Given the description of an element on the screen output the (x, y) to click on. 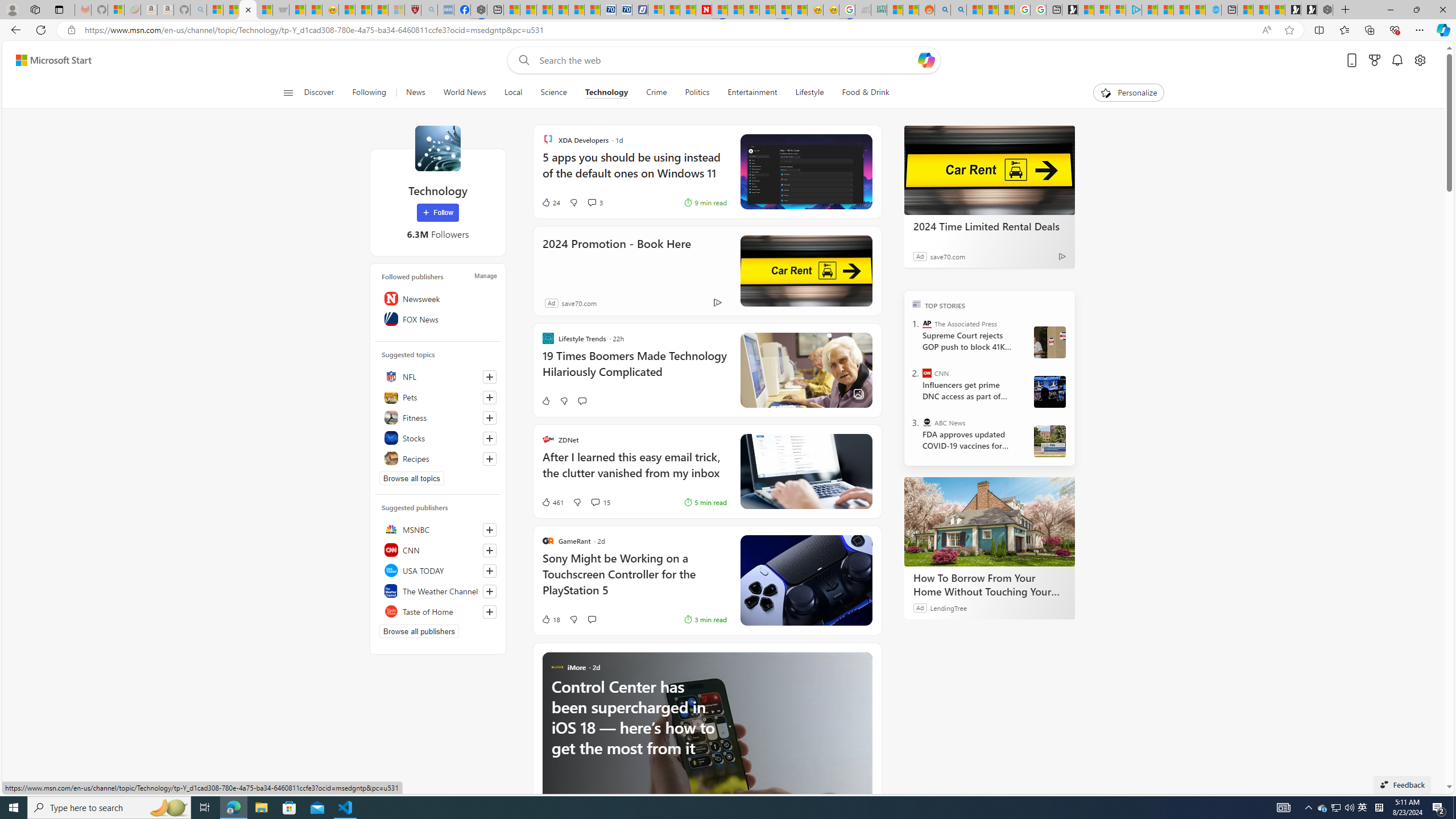
2024 Time Limited Rental Deals (988, 226)
Taste of Home (437, 610)
Follow this source (489, 611)
